Given the description of an element on the screen output the (x, y) to click on. 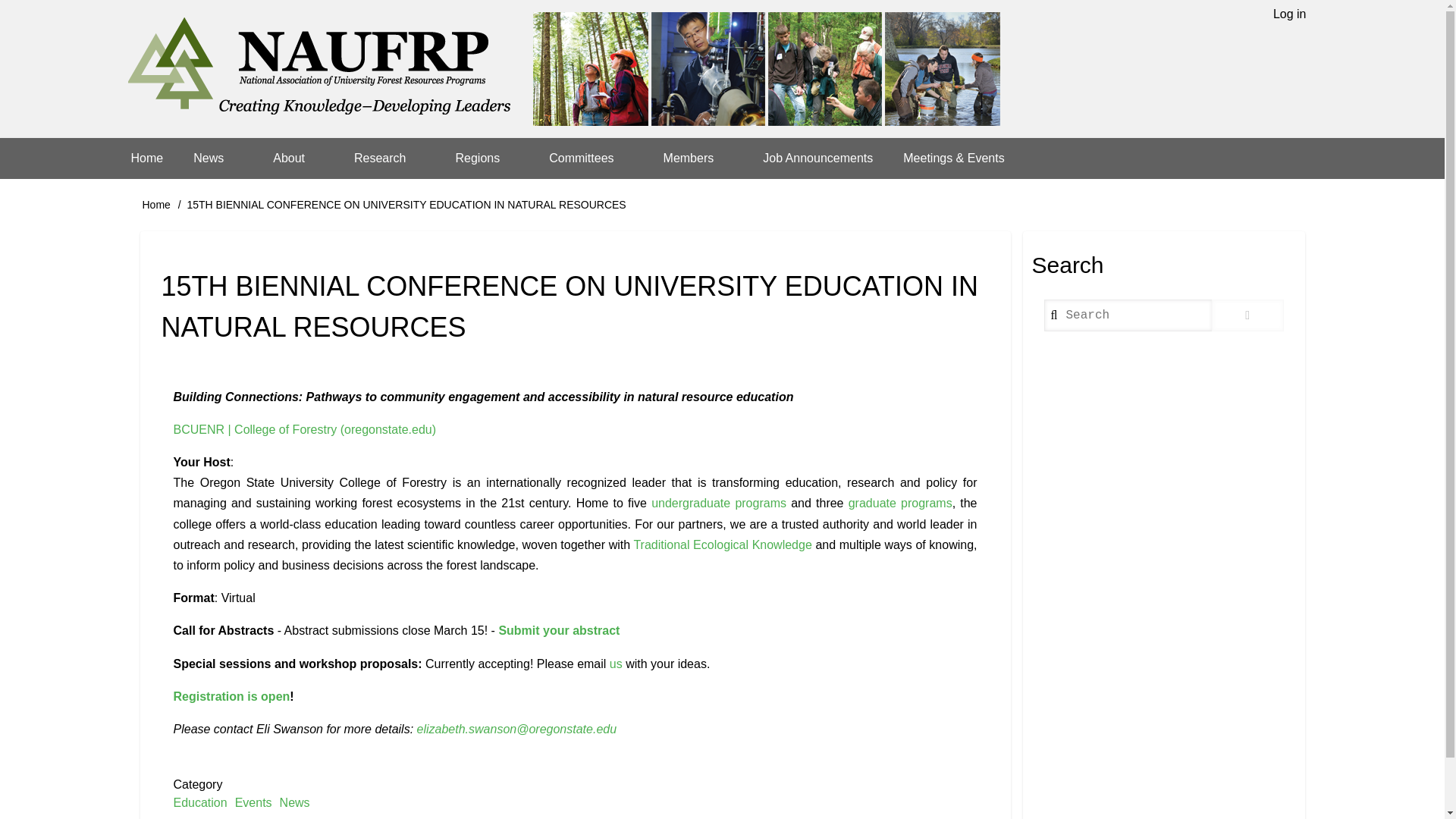
Regions (486, 158)
About (298, 158)
Research (389, 158)
News (217, 158)
Committees (590, 158)
Log in (1289, 14)
Job Announcements (818, 158)
Home (563, 69)
Home (156, 204)
Home (146, 158)
Members (697, 158)
Enter the terms you wish to search for. (1127, 315)
